Given the description of an element on the screen output the (x, y) to click on. 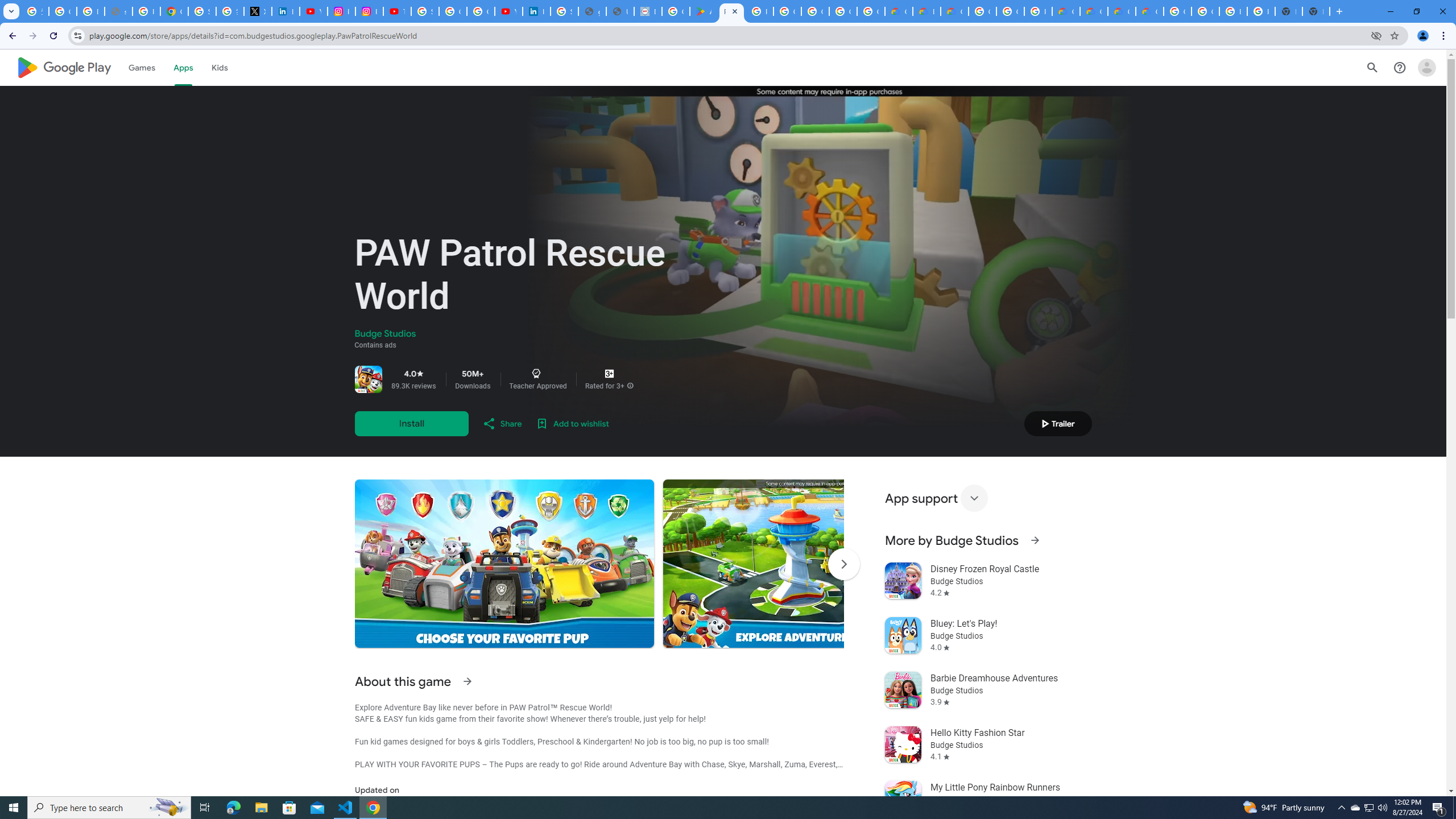
Google Cloud Platform (1205, 11)
Scroll Next (843, 563)
Privacy Help Center - Policies Help (146, 11)
Google Cloud Pricing Calculator (1121, 11)
See more information on More by Budge Studios (1034, 539)
Open account menu (1426, 67)
Play trailer (1058, 423)
